Given the description of an element on the screen output the (x, y) to click on. 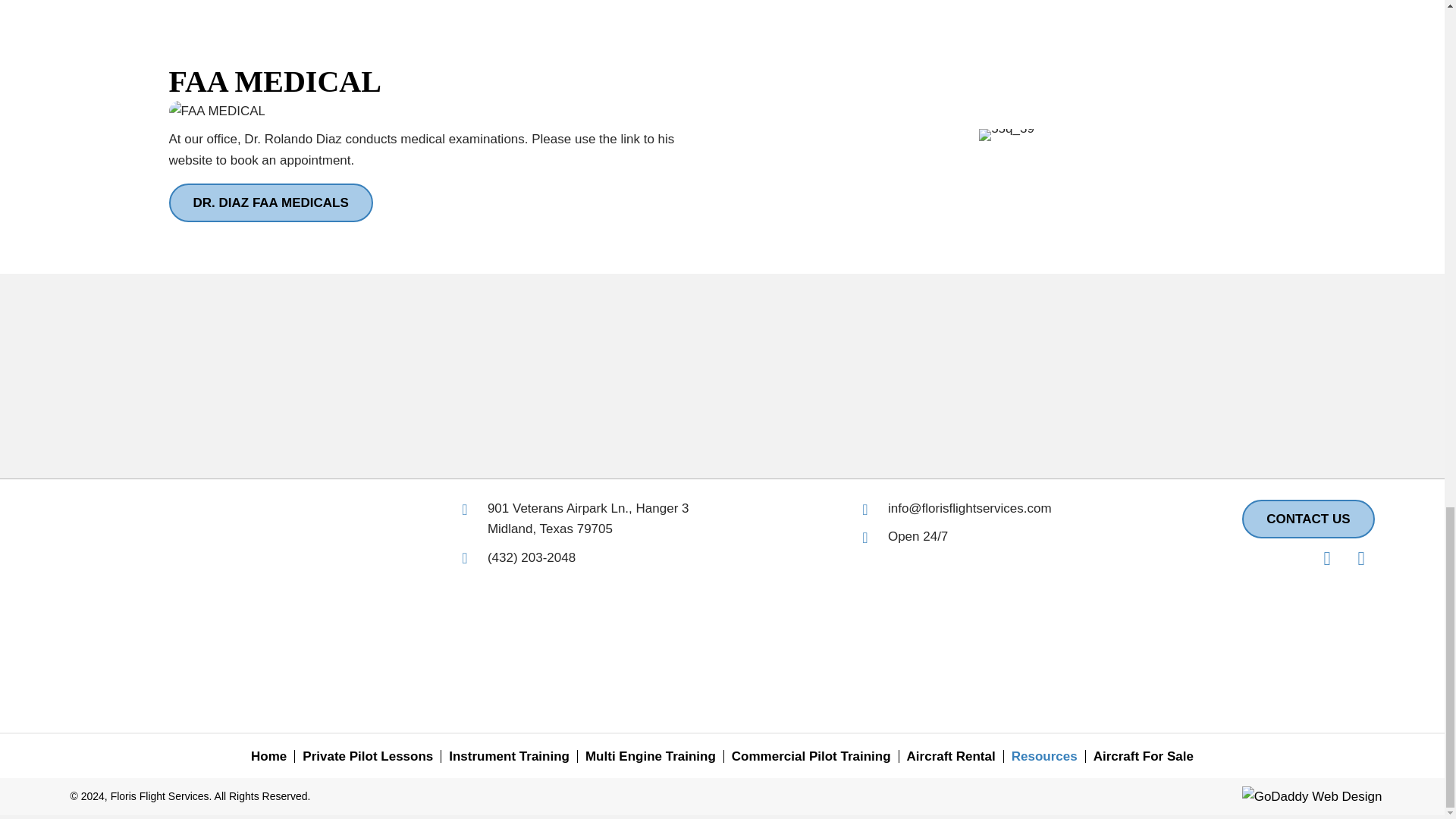
Instagram (1361, 558)
CONTACT US (587, 517)
Floris Flight Services (1307, 518)
Facebook (180, 605)
DR. DIAZ FAA MEDICALS (1327, 558)
